Given the description of an element on the screen output the (x, y) to click on. 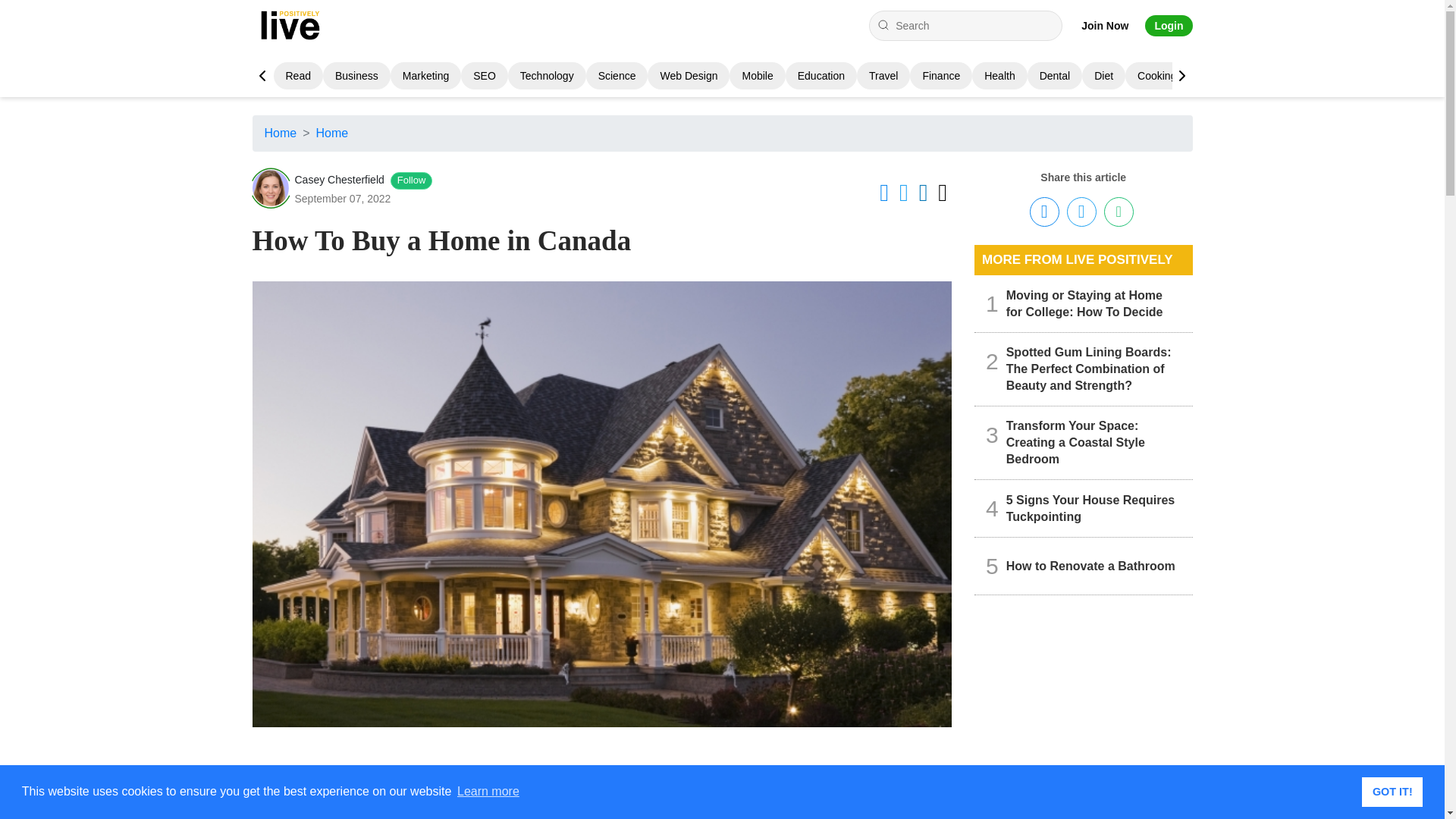
Cooking (1156, 75)
Learn more (487, 791)
Join Now (1104, 25)
Share via Twitter (1081, 211)
SEO (484, 75)
Science (617, 75)
Health (999, 75)
Technology (546, 75)
Dental (1054, 75)
Education (820, 75)
